Given the description of an element on the screen output the (x, y) to click on. 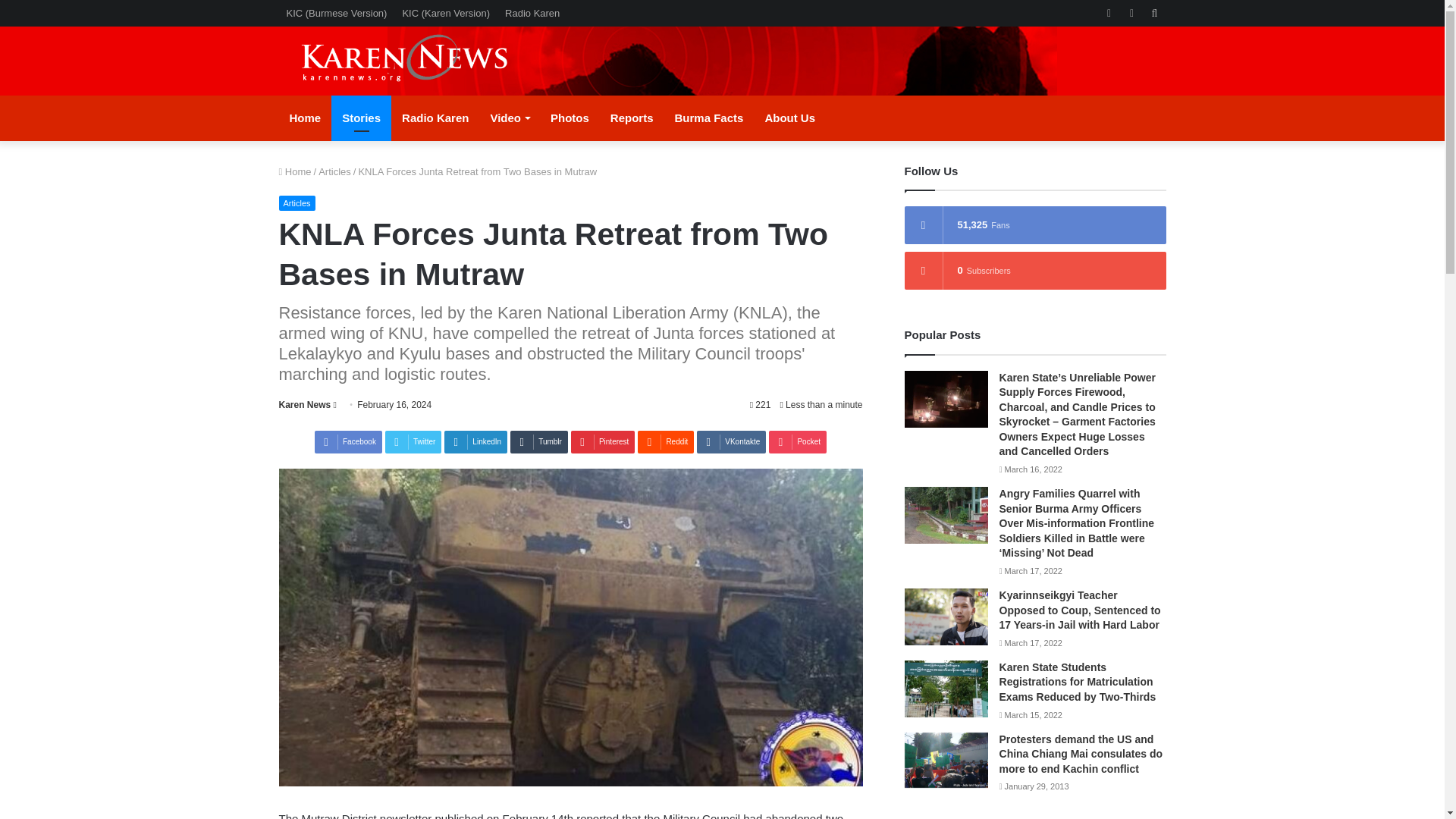
Articles (297, 202)
Pinterest (602, 441)
Karen News (305, 404)
Radio Karen (435, 117)
Karen News (305, 404)
Articles (334, 171)
Karen News (419, 60)
Twitter (413, 441)
Pocket (797, 441)
About Us (789, 117)
Stories (361, 117)
LinkedIn (475, 441)
Photos (569, 117)
Reddit (665, 441)
Radio Karen (532, 13)
